Given the description of an element on the screen output the (x, y) to click on. 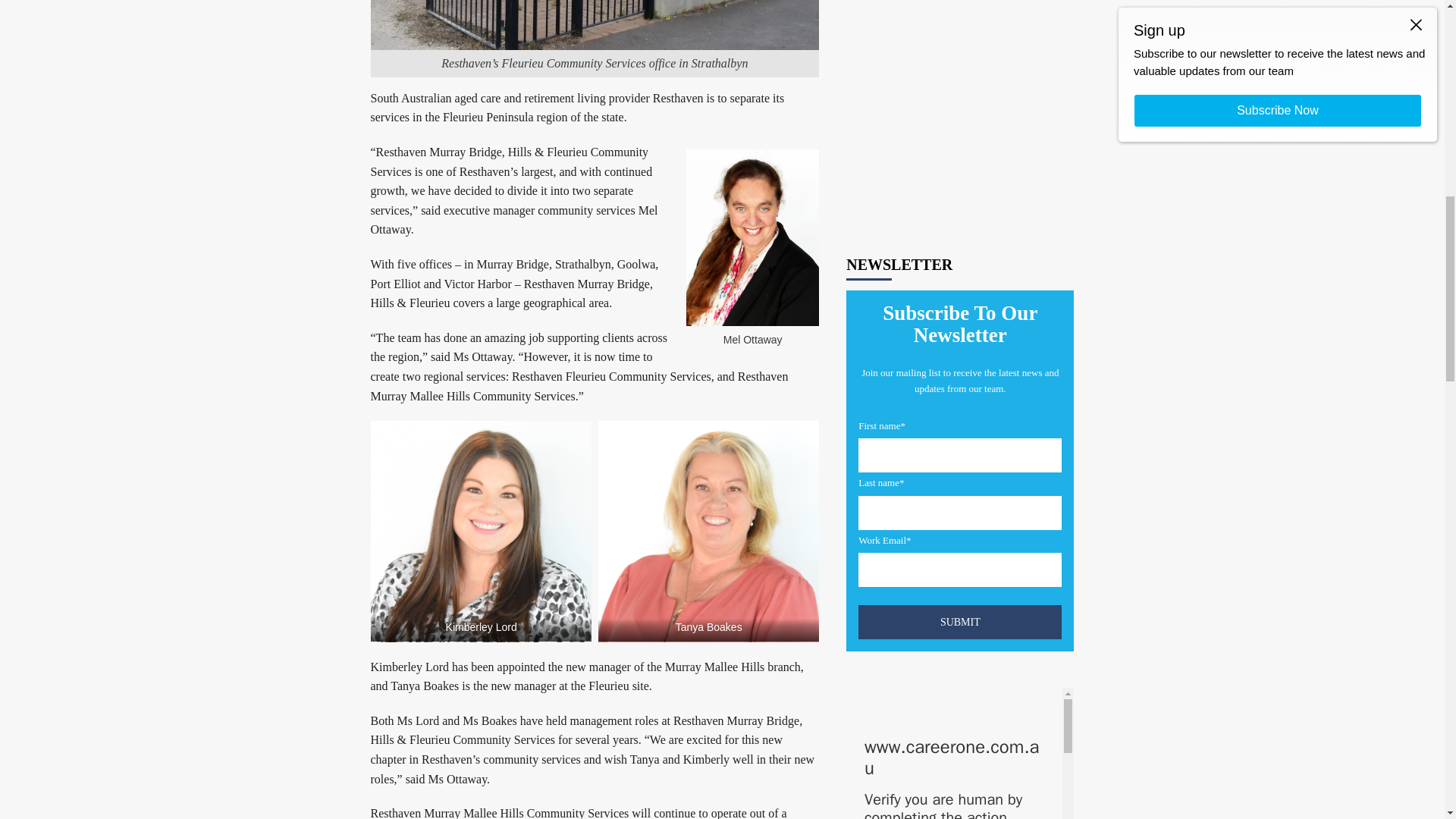
Submit (960, 181)
